Given the description of an element on the screen output the (x, y) to click on. 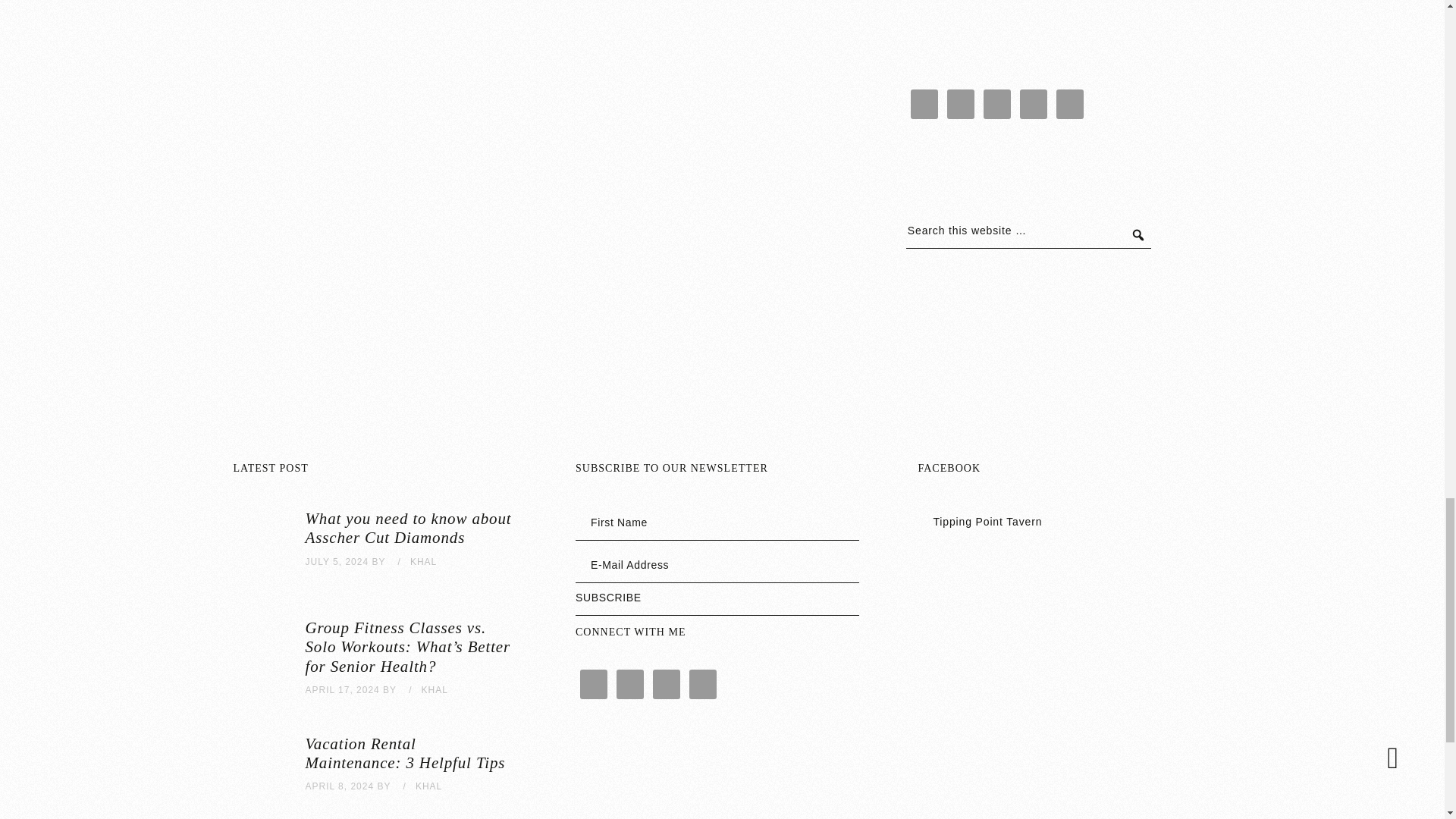
KHAL (423, 561)
Subscribe (717, 602)
What you need to know about Asscher Cut Diamonds (407, 528)
